Given the description of an element on the screen output the (x, y) to click on. 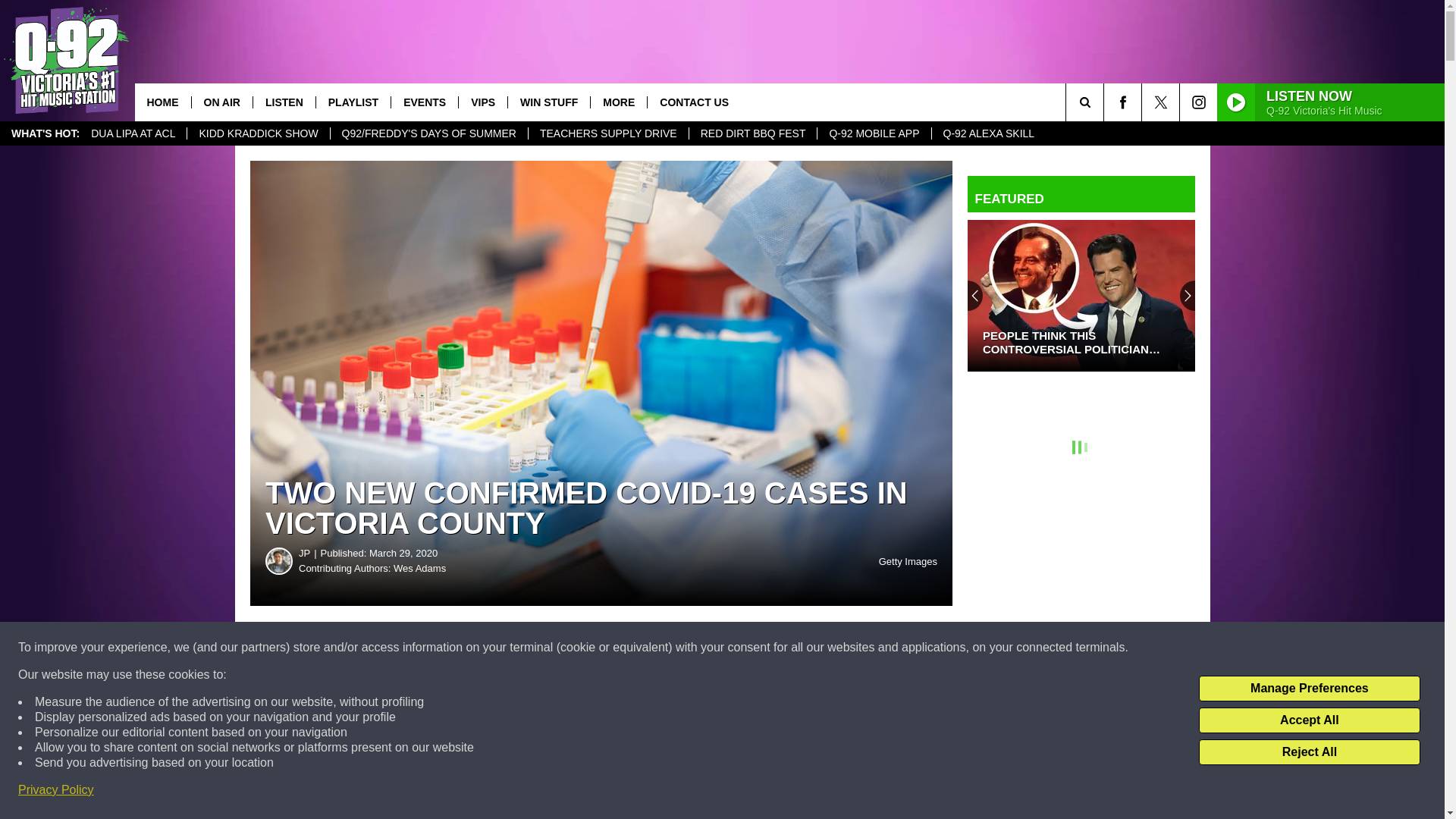
CONTACT US (693, 102)
SEARCH (1106, 102)
TEACHERS SUPPLY DRIVE (607, 133)
Q-92 MOBILE APP (873, 133)
Q-92 ALEXA SKILL (988, 133)
EVENTS (424, 102)
SEARCH (1106, 102)
ON AIR (220, 102)
WIN STUFF (547, 102)
Accept All (1309, 720)
LISTEN (283, 102)
RED DIRT BBQ FEST (752, 133)
Manage Preferences (1309, 688)
Share on Twitter (741, 647)
Share on Facebook (460, 647)
